Given the description of an element on the screen output the (x, y) to click on. 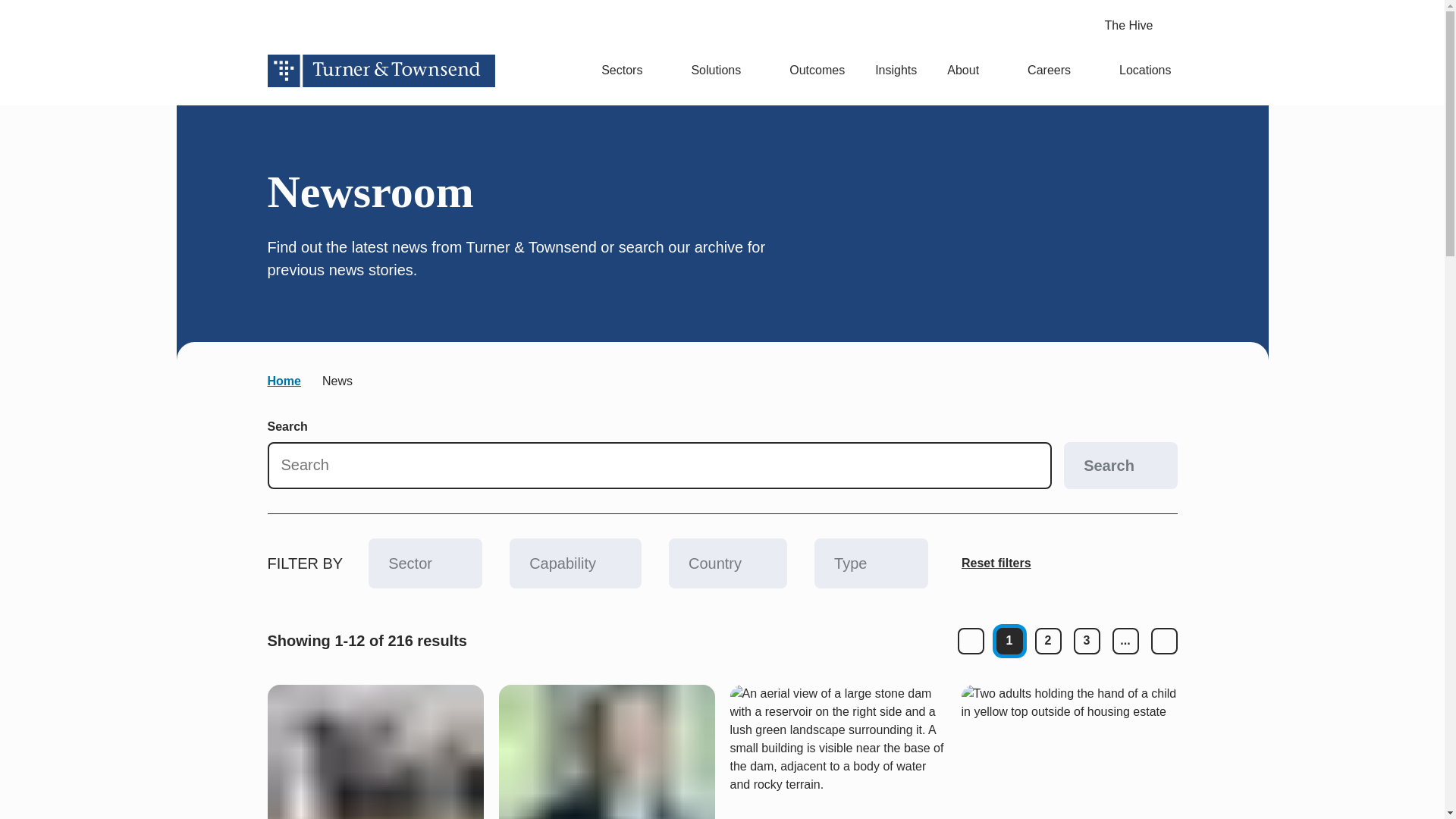
Solutions (724, 70)
Search (1119, 465)
Outcomes (816, 70)
Next pagination group (1125, 641)
next (1164, 641)
3 (1087, 641)
prev (970, 641)
Sectors (630, 70)
Search (1075, 25)
Supporting Thames Water to protect water resources (836, 751)
Clear all (996, 563)
Enhancing vital projects across Cornwall  (1068, 751)
The Hive (1139, 25)
Championing Middle East talent and diversity (374, 751)
1 (1009, 641)
